Given the description of an element on the screen output the (x, y) to click on. 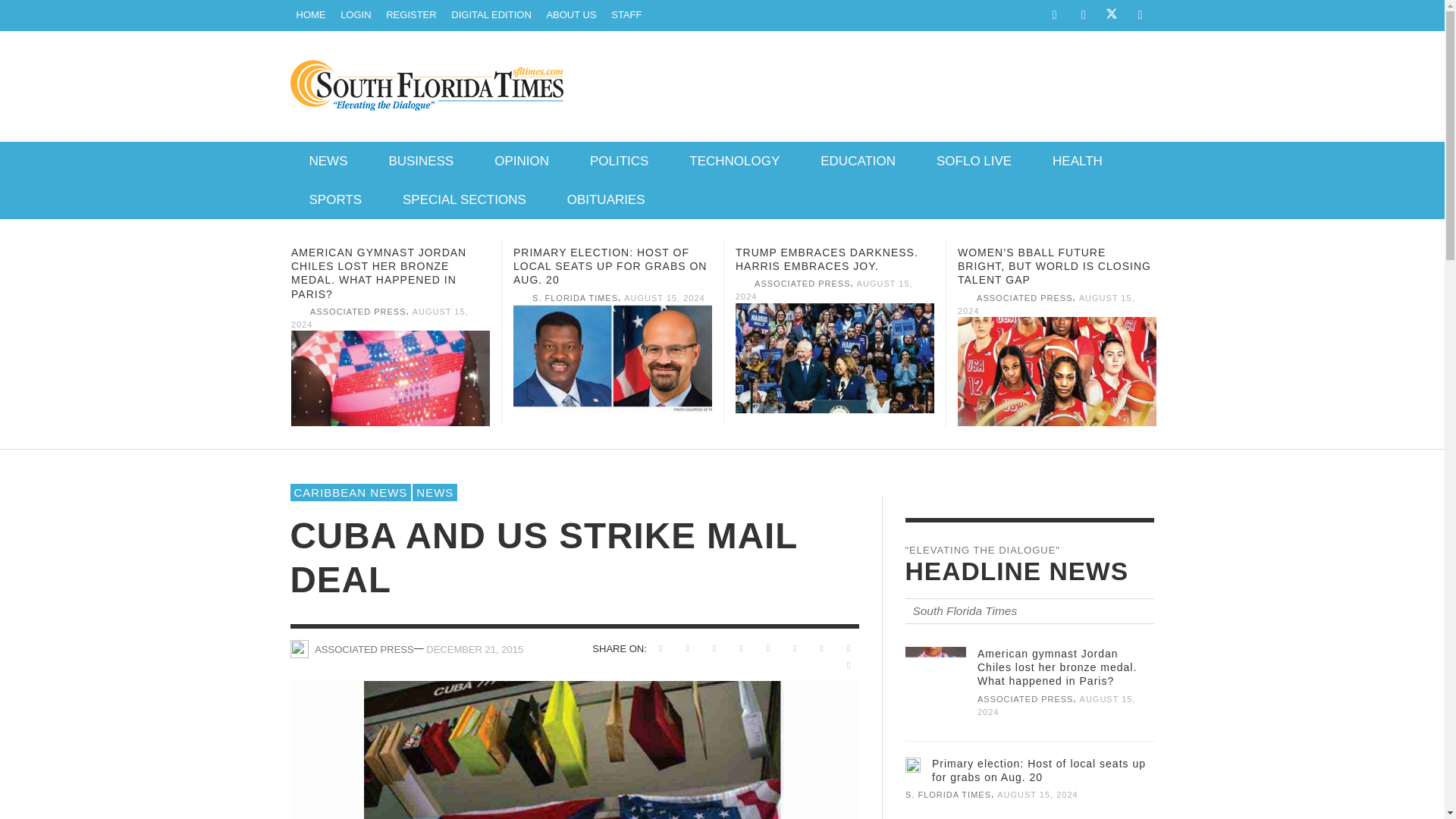
South Florida Times (310, 15)
Twitter (1111, 15)
Digital Edition (491, 15)
Facebook (1053, 15)
Instagram (1082, 15)
